Given the description of an element on the screen output the (x, y) to click on. 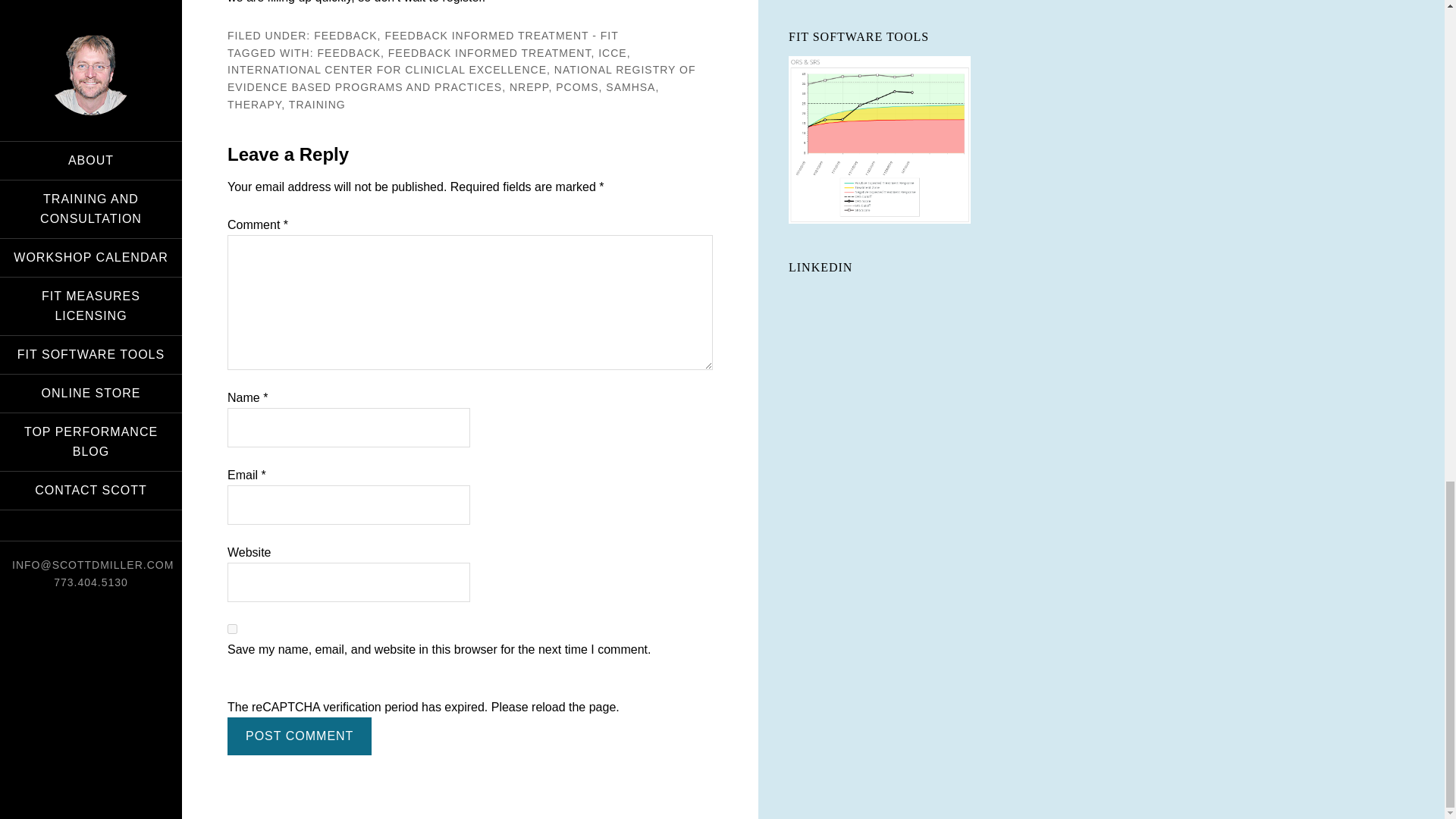
THERAPY (254, 104)
ICCE (612, 52)
Post Comment (299, 736)
FEEDBACK (345, 35)
PCOMS (577, 87)
FEEDBACK INFORMED TREATMENT - FIT (500, 35)
FEEDBACK (348, 52)
SAMHSA (630, 87)
INTERNATIONAL CENTER FOR CLINICLAL EXCELLENCE (387, 69)
TRAINING (317, 104)
